Given the description of an element on the screen output the (x, y) to click on. 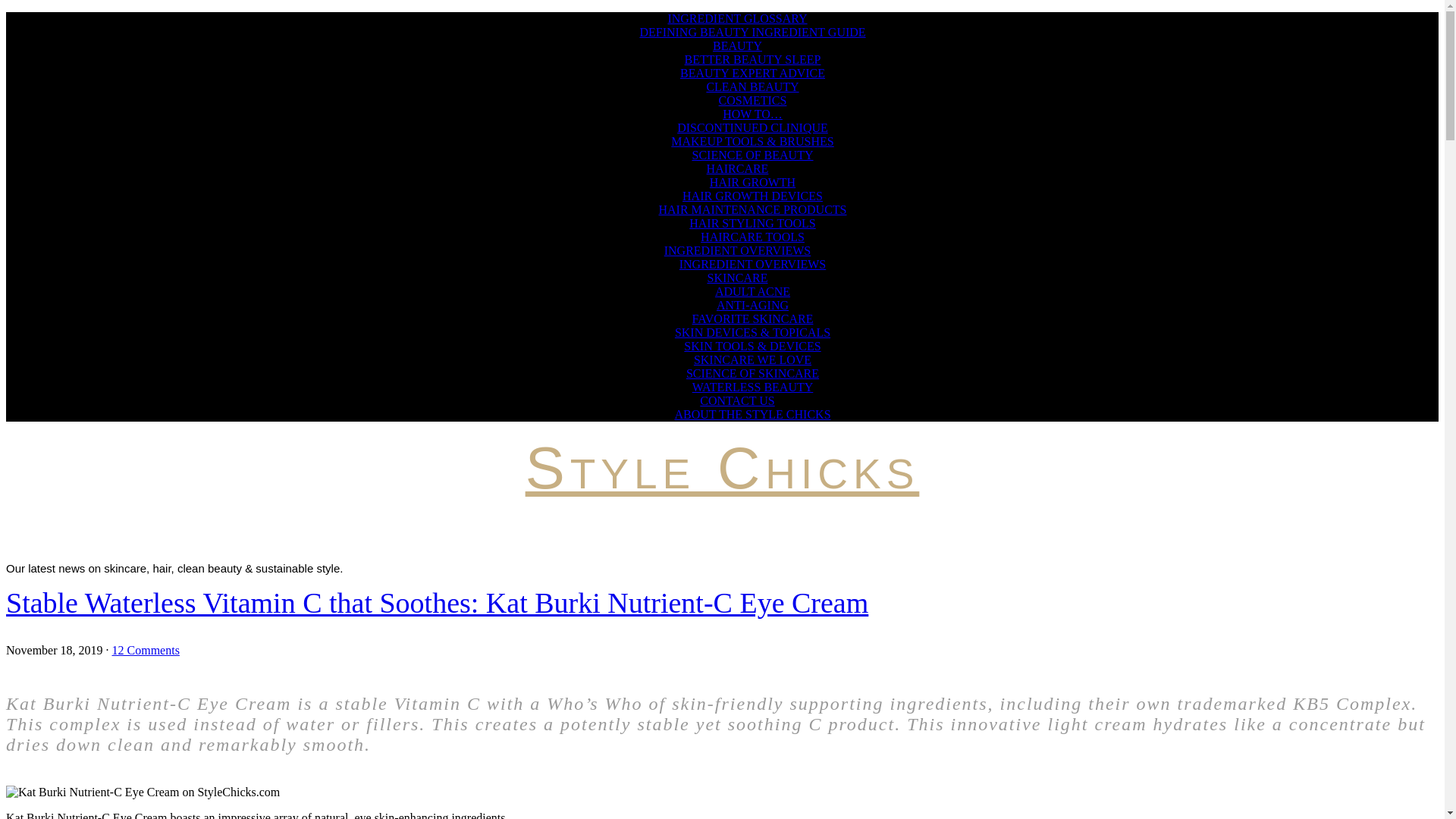
HAIR GROWTH (752, 182)
Science of Beauty (751, 154)
WATERLESS BEAUTY (753, 386)
INGREDIENT OVERVIEWS (753, 264)
INGREDIENT GLOSSARY (736, 18)
SKINCARE (736, 277)
SCIENCE OF BEAUTY (751, 154)
SCIENCE OF SKINCARE (751, 373)
DISCONTINUED CLINIQUE (752, 127)
SKINCARE WE LOVE (752, 359)
HAIRCARE TOOLS (752, 236)
How to get better beauty sleep (752, 59)
INGREDIENT OVERVIEWS (736, 250)
ANTI-AGING (752, 305)
HAIR STYLING TOOLS (751, 223)
